Given the description of an element on the screen output the (x, y) to click on. 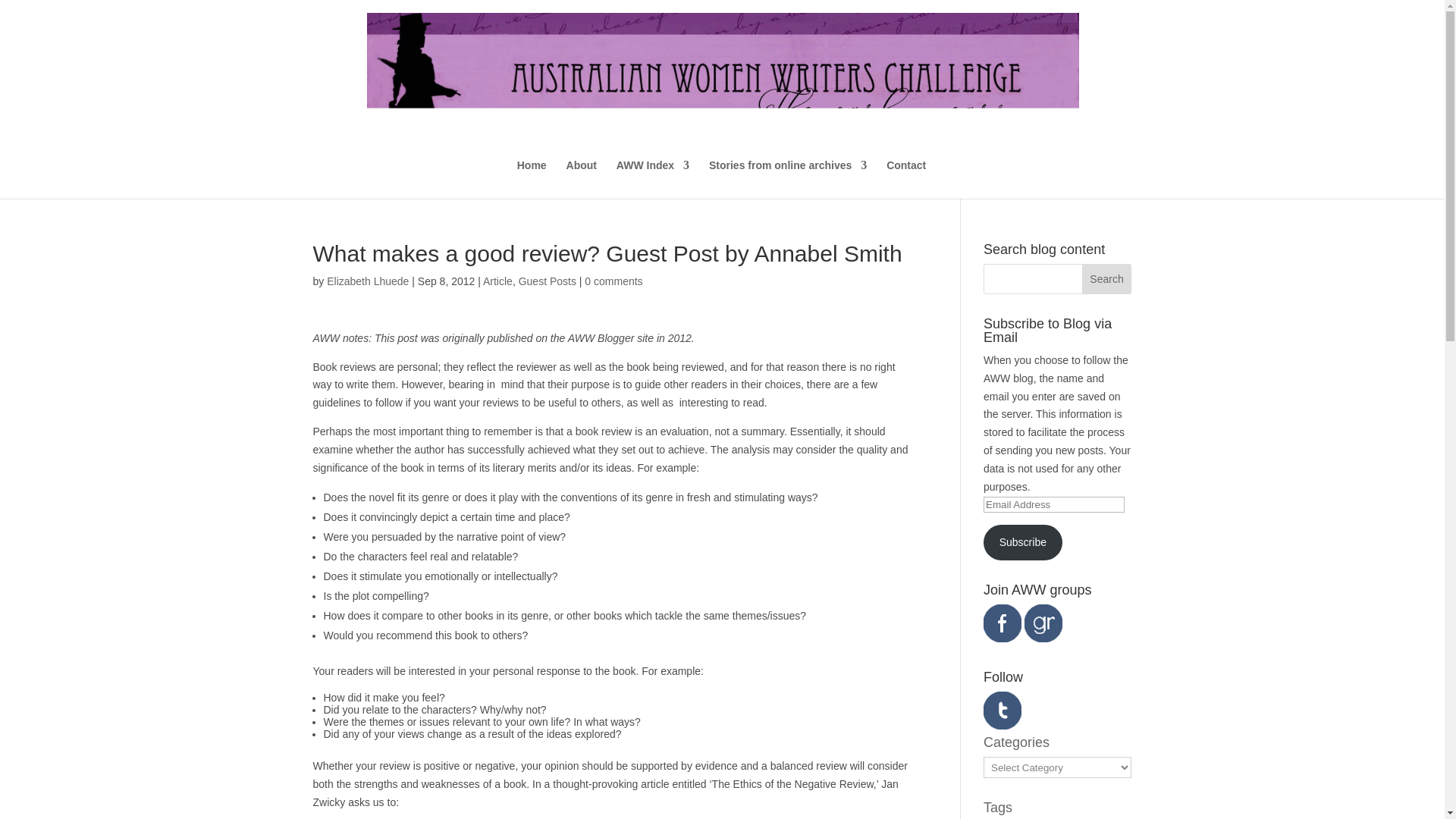
Search (1106, 278)
Elizabeth Lhuede (367, 281)
Posts by Elizabeth Lhuede (367, 281)
Subscribe (1023, 541)
AWW Index (651, 179)
Search (1106, 278)
0 comments (613, 281)
Guest Posts (547, 281)
Contact (906, 179)
Article (497, 281)
